Given the description of an element on the screen output the (x, y) to click on. 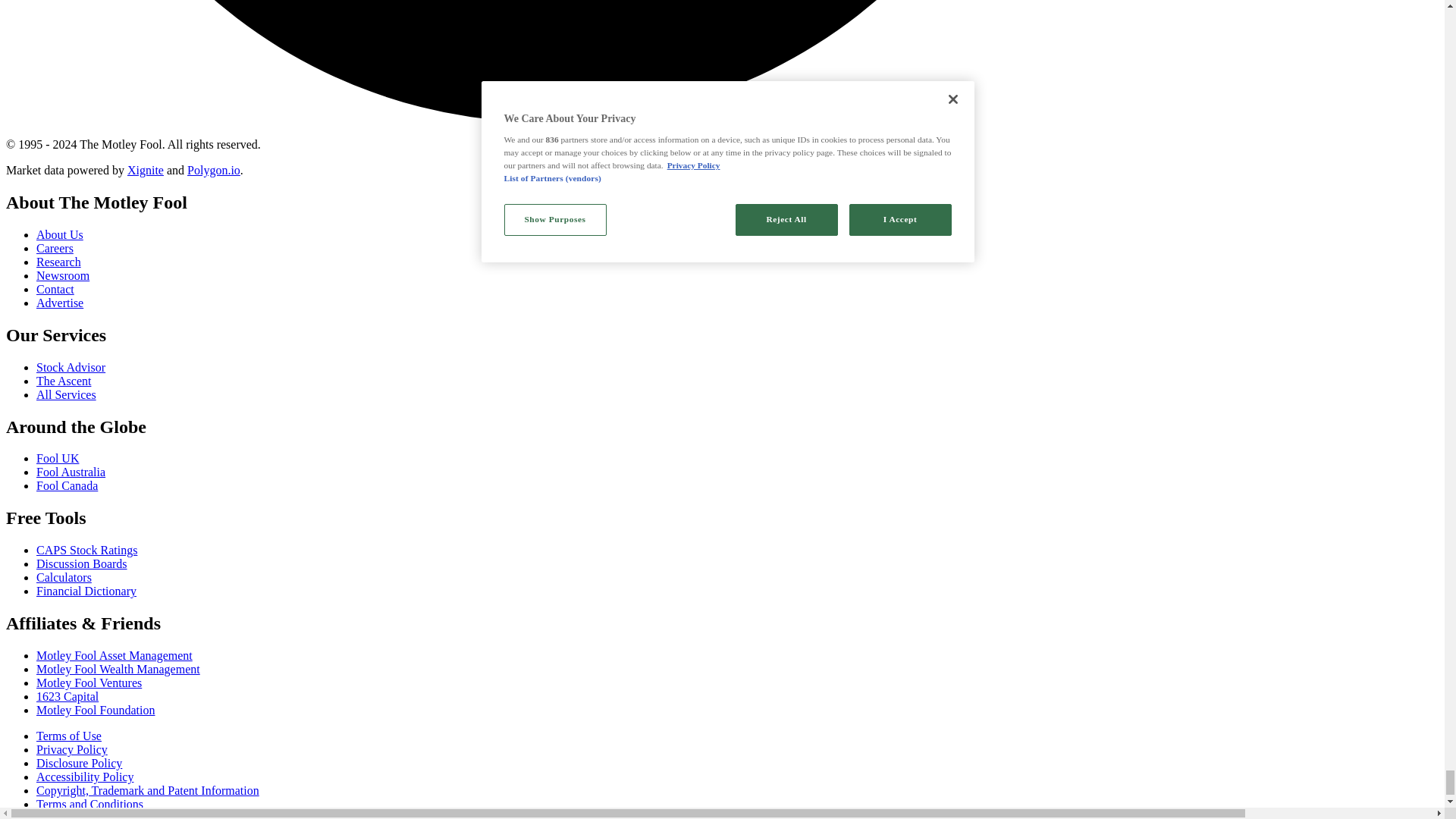
Privacy Policy (71, 748)
Copyright, Trademark and Patent Information (147, 789)
Terms of Use (68, 735)
Terms and Conditions (89, 803)
Disclosure Policy (79, 762)
Accessibility Policy (84, 776)
